Given the description of an element on the screen output the (x, y) to click on. 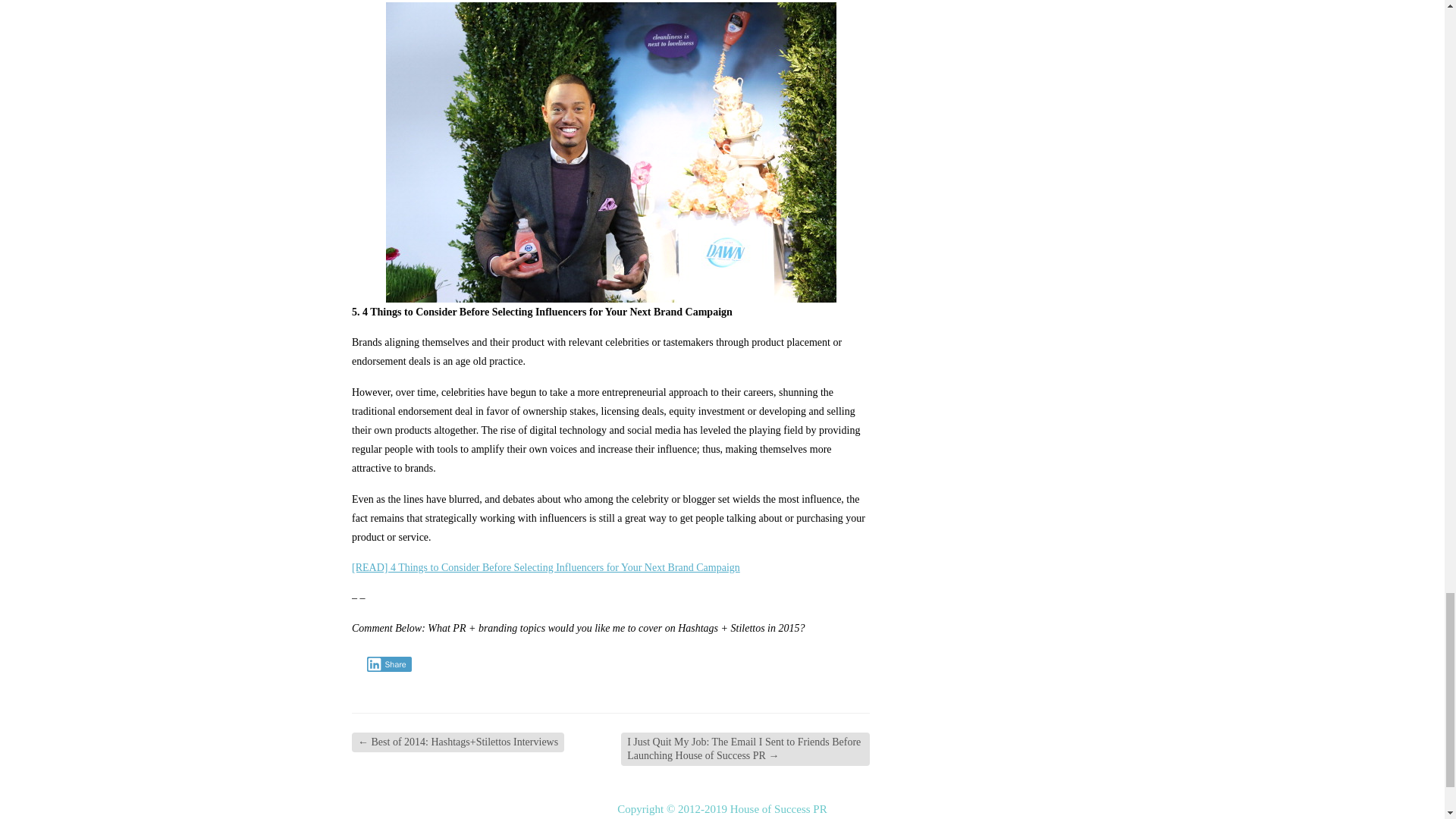
Share (389, 663)
